Given the description of an element on the screen output the (x, y) to click on. 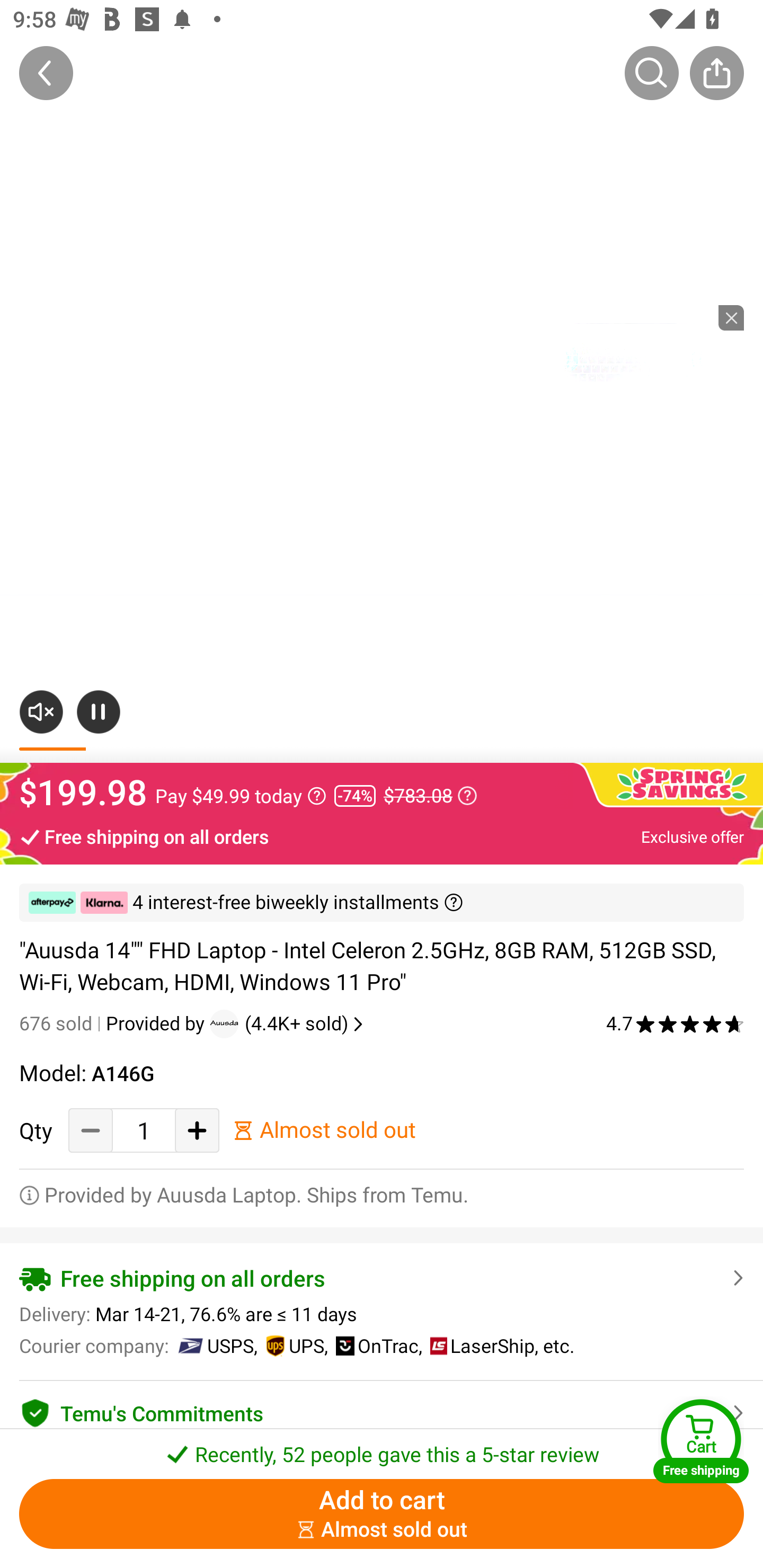
Back (46, 72)
Share (716, 72)
tronplayer_view (631, 368)
Pay $49.99 today   (240, 795)
Free shipping on all orders Exclusive offer (381, 836)
￼ ￼ 4 interest-free biweekly installments ￼ (381, 902)
676 sold Provided by  (114, 1023)
4.7 (674, 1023)
Decrease Quantity Button (90, 1130)
1 (143, 1130)
Add Quantity button (196, 1130)
Temu's Commitments (381, 1410)
Cart Free shipping Cart (701, 1440)
￼￼Recently, 52 people gave this a 5-star review (381, 1448)
Add to cart ￼￼Almost sold out (381, 1513)
